Given the description of an element on the screen output the (x, y) to click on. 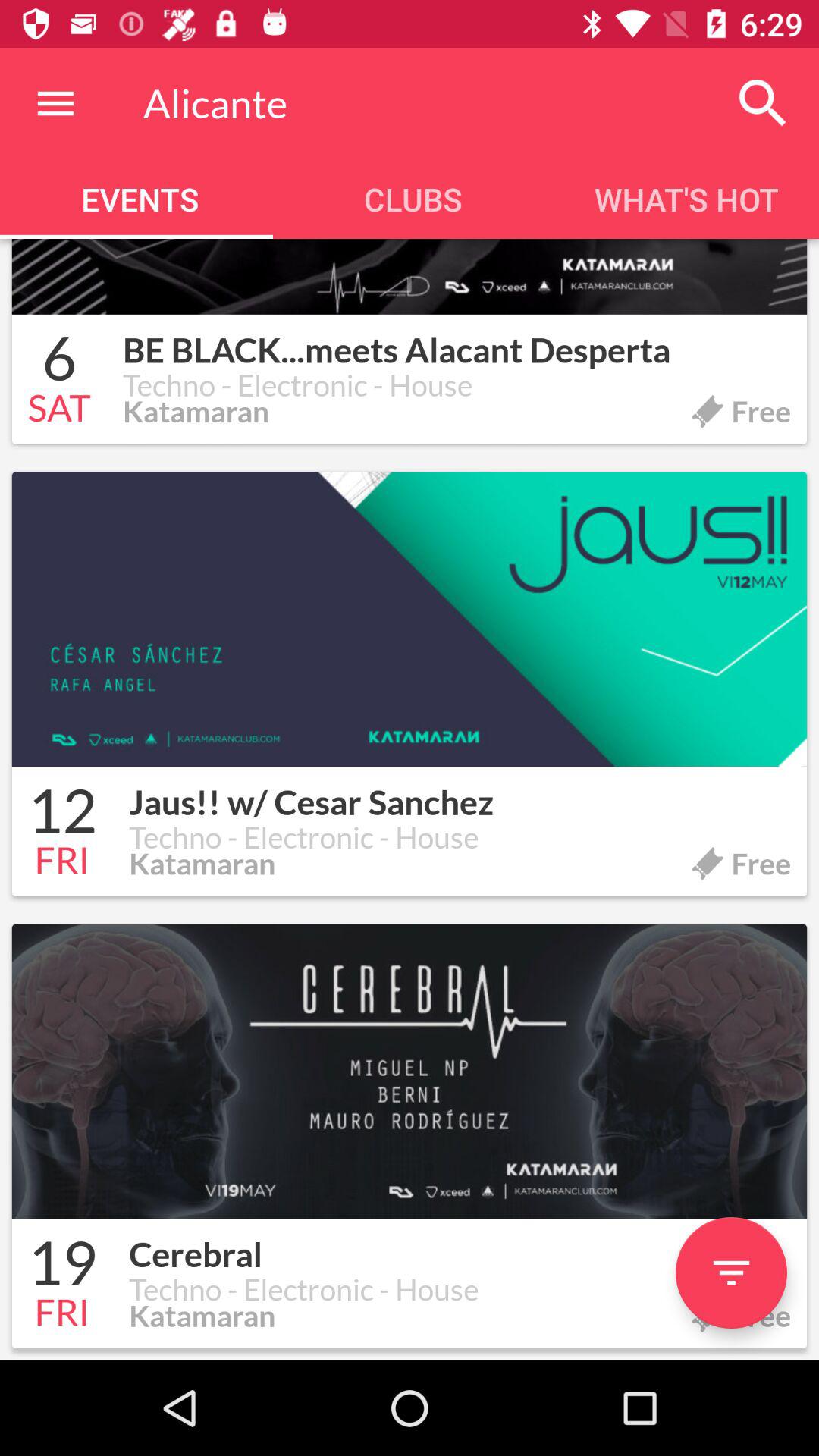
press the item to the right of 6 icon (456, 341)
